Given the description of an element on the screen output the (x, y) to click on. 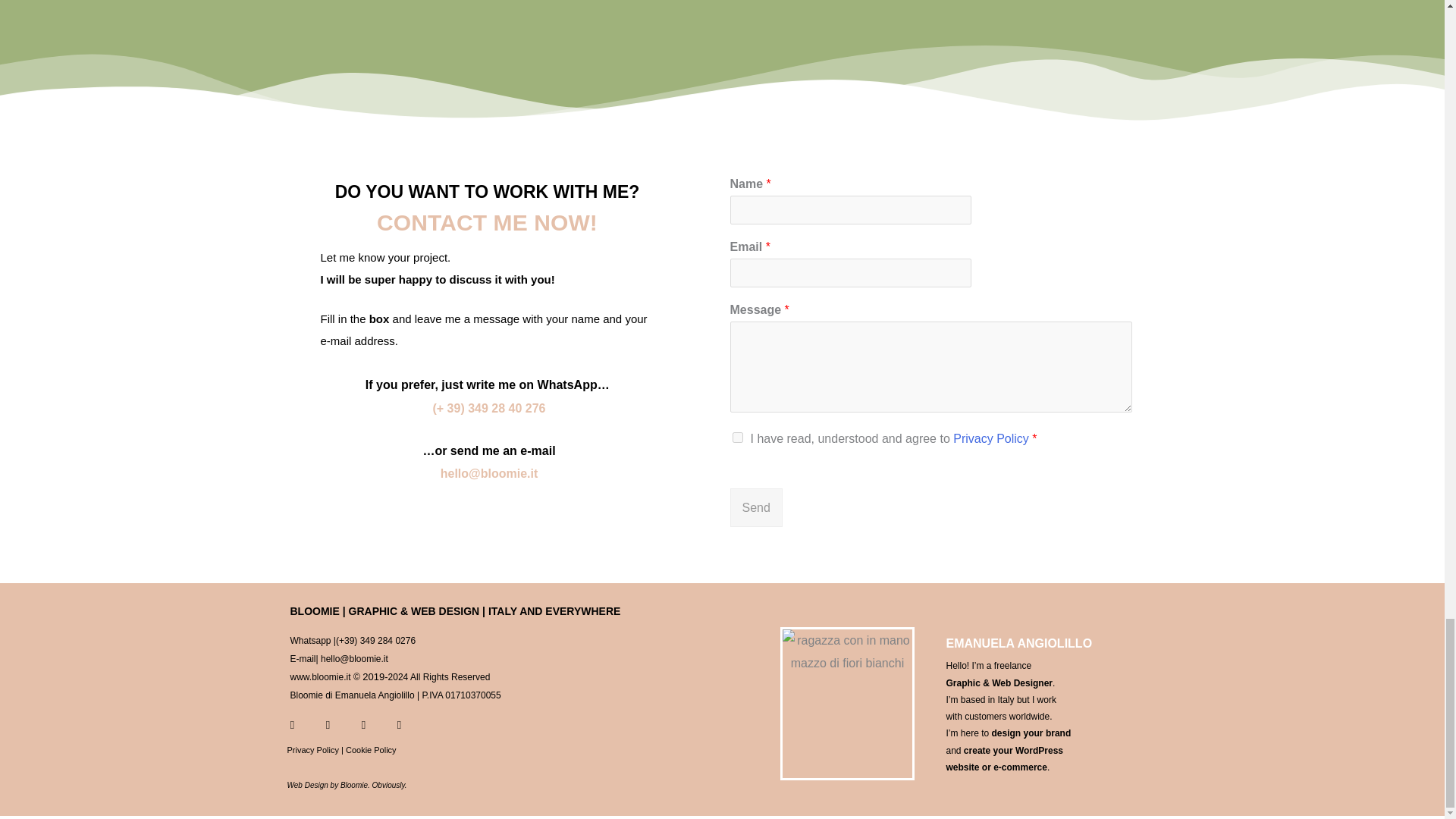
Cookie Policy (371, 749)
Privacy Policy (311, 749)
Pinterest (363, 725)
Instagram (292, 725)
www.bloomie.it (319, 676)
Send (755, 507)
Bloomie di Emanuela Angiolillo (351, 695)
Privacy Policy (991, 438)
Visita il profilo LinkedIn di Emanuela Angiolillo (351, 695)
Linkedin (398, 725)
